Given the description of an element on the screen output the (x, y) to click on. 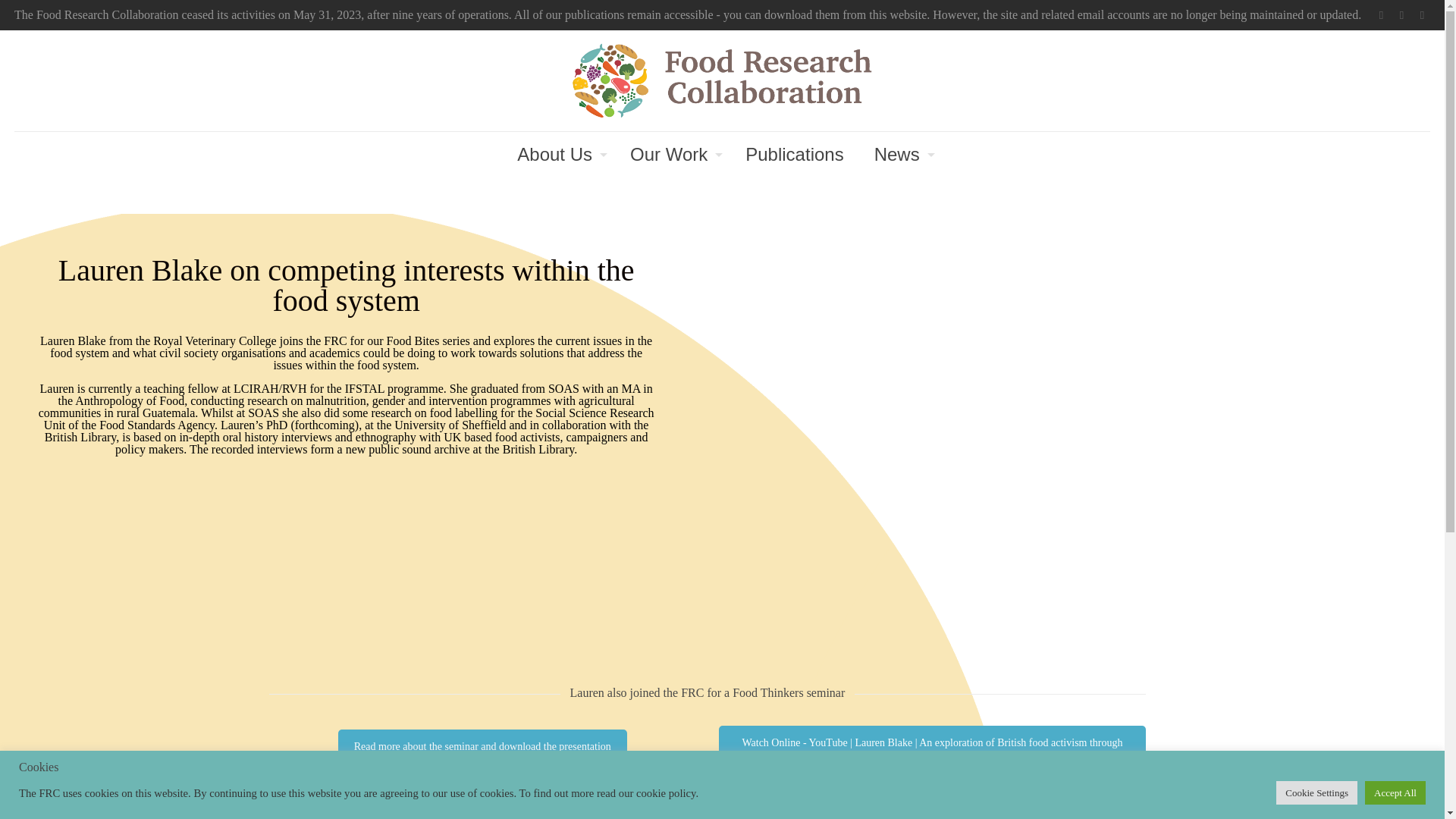
Food Research Collaboration (721, 80)
Our Work (672, 154)
Twitter (1381, 15)
YouTube (1401, 15)
About Us (558, 154)
Flickr (1421, 15)
